Given the description of an element on the screen output the (x, y) to click on. 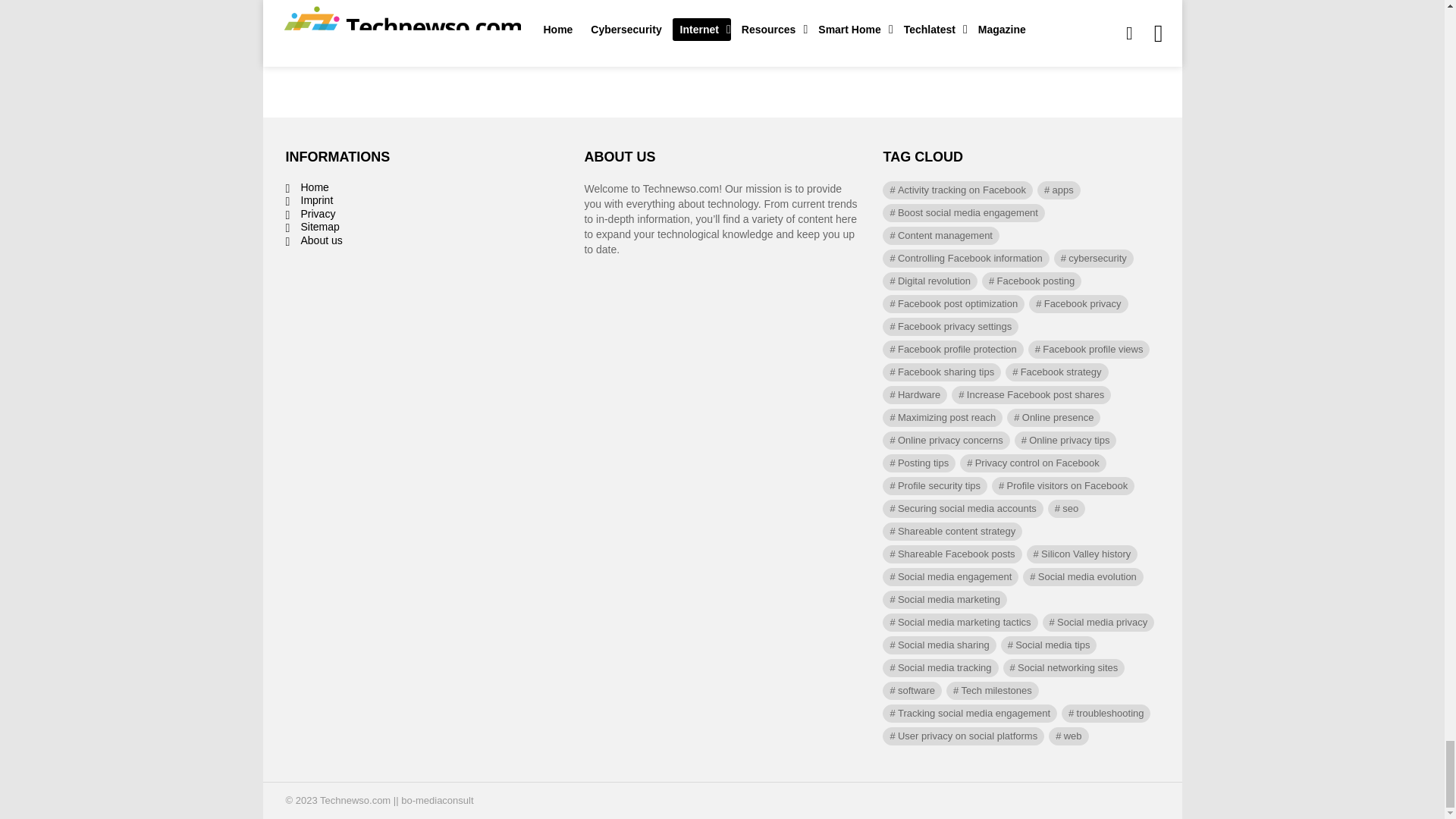
Can you see who views your Facebook? (385, 31)
